Given the description of an element on the screen output the (x, y) to click on. 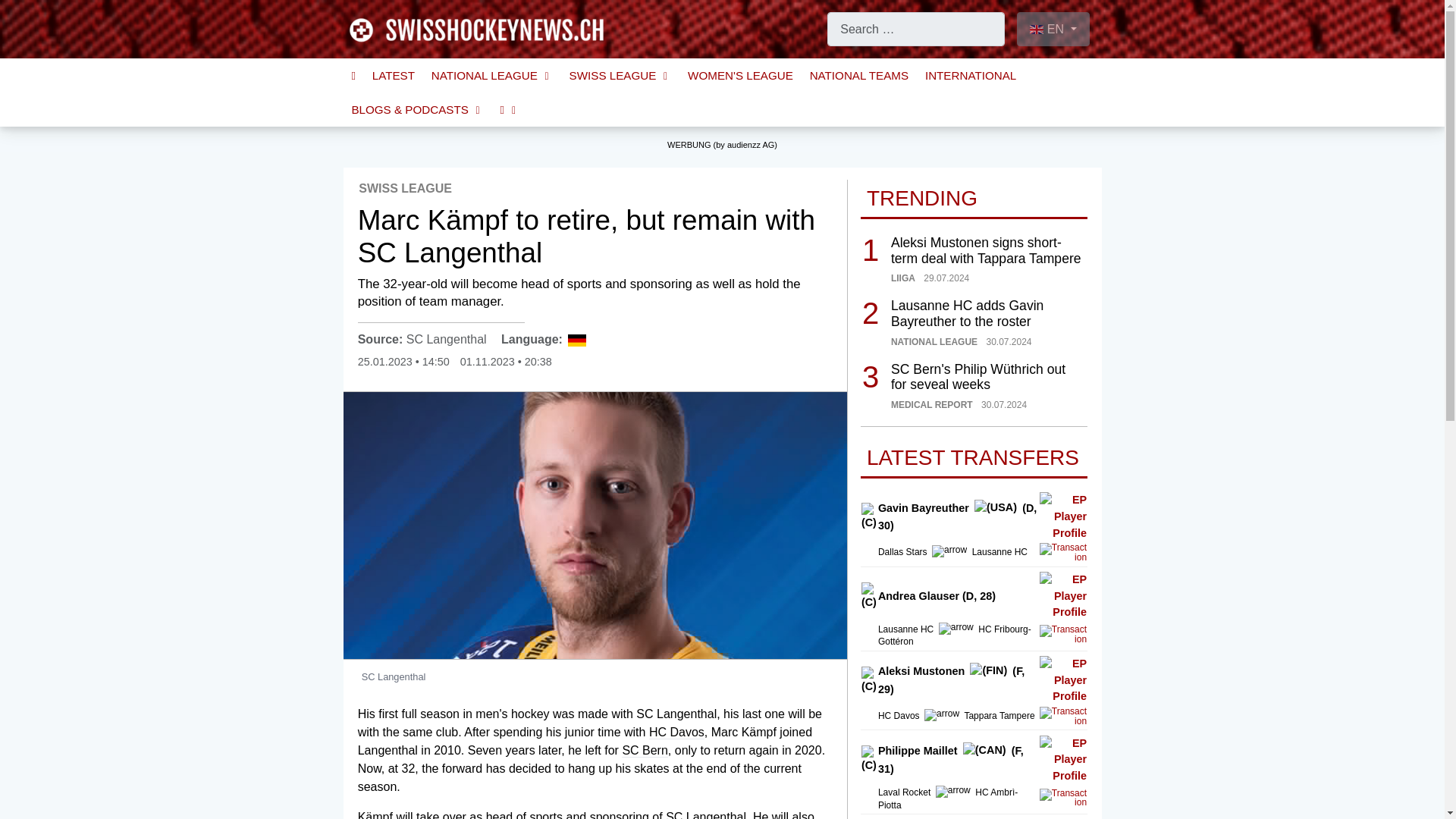
HCD: News, Kader, und Transfers (676, 732)
NATIONAL LEAGUE (491, 75)
LATEST (393, 75)
SCB: News, Kader, und Transfers (643, 750)
EN (1052, 28)
